Given the description of an element on the screen output the (x, y) to click on. 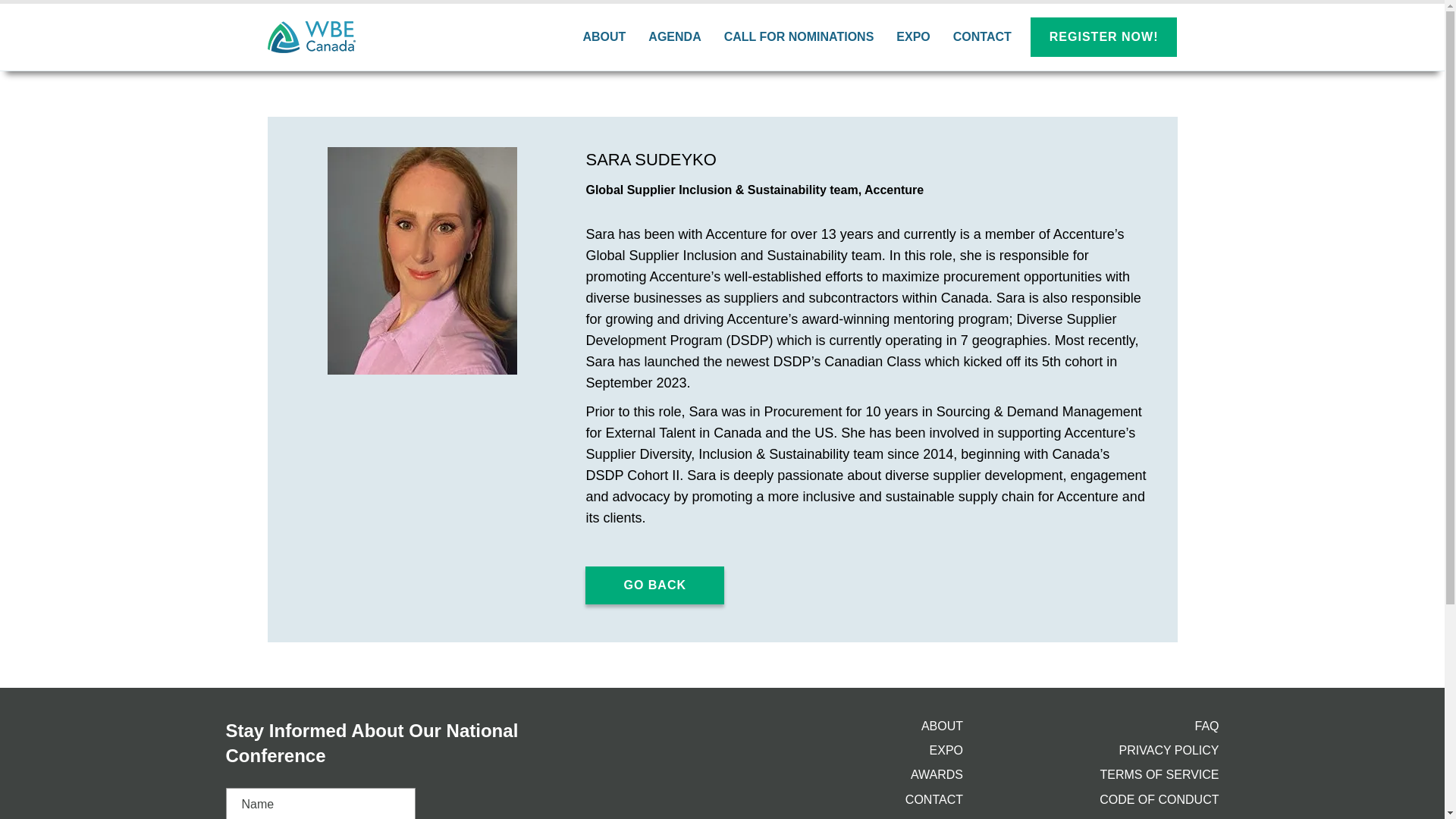
ABOUT (941, 725)
CODE OF CONDUCT (1158, 799)
CONTACT (933, 799)
EXPO (912, 36)
TERMS OF SERVICE (1158, 774)
PRIVACY POLICY (1169, 749)
CONTACT (982, 36)
EXPO (946, 749)
AWARDS (936, 774)
REGISTER NOW! (1104, 36)
